Given the description of an element on the screen output the (x, y) to click on. 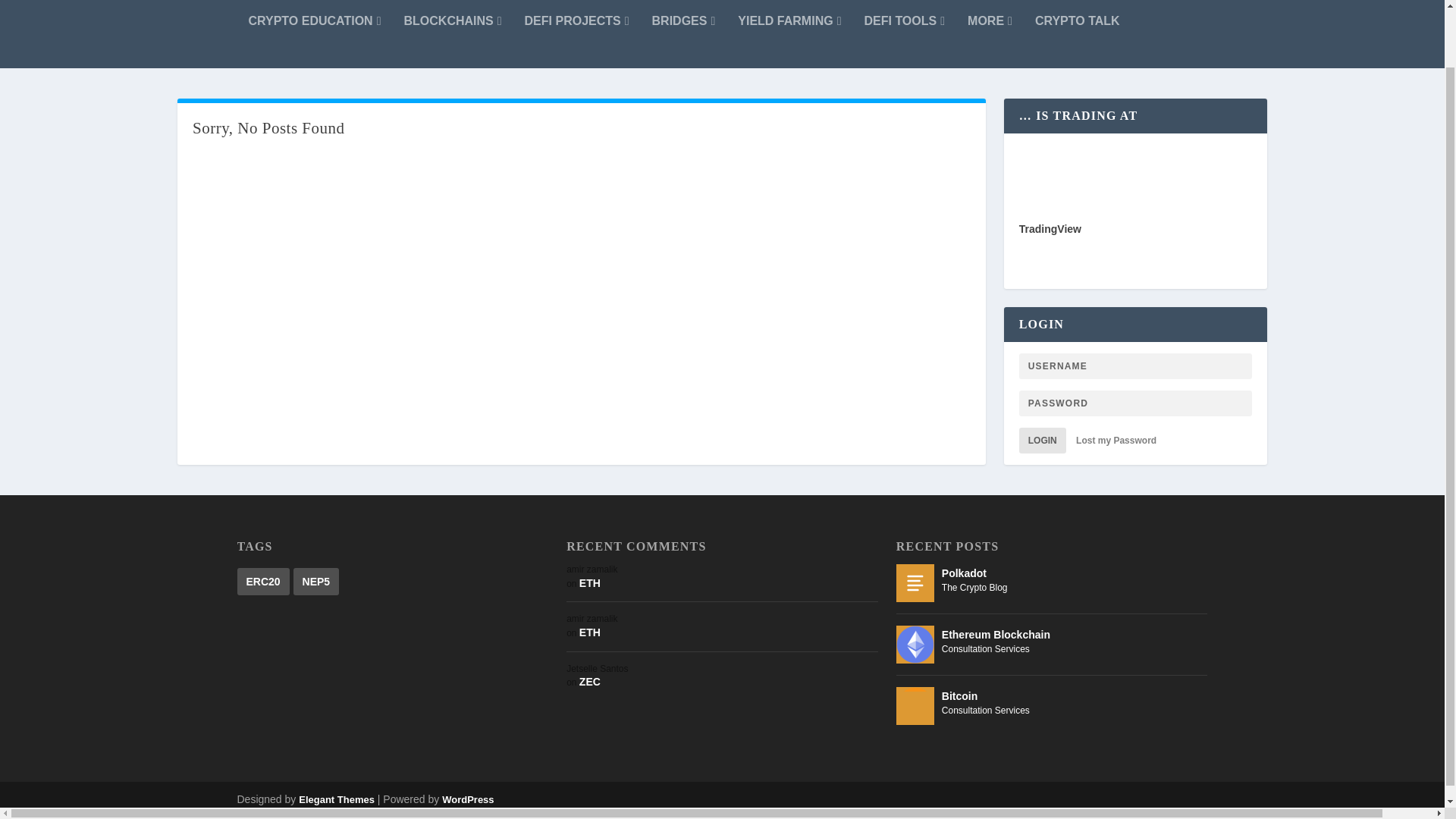
BLOCKCHAINS (451, 33)
Premium WordPress Themes (336, 799)
Ethereum Blockchain (915, 644)
Bitcoin (915, 705)
Polkadot (915, 582)
CRYPTO EDUCATION (314, 33)
DEFI PROJECTS (576, 33)
